Given the description of an element on the screen output the (x, y) to click on. 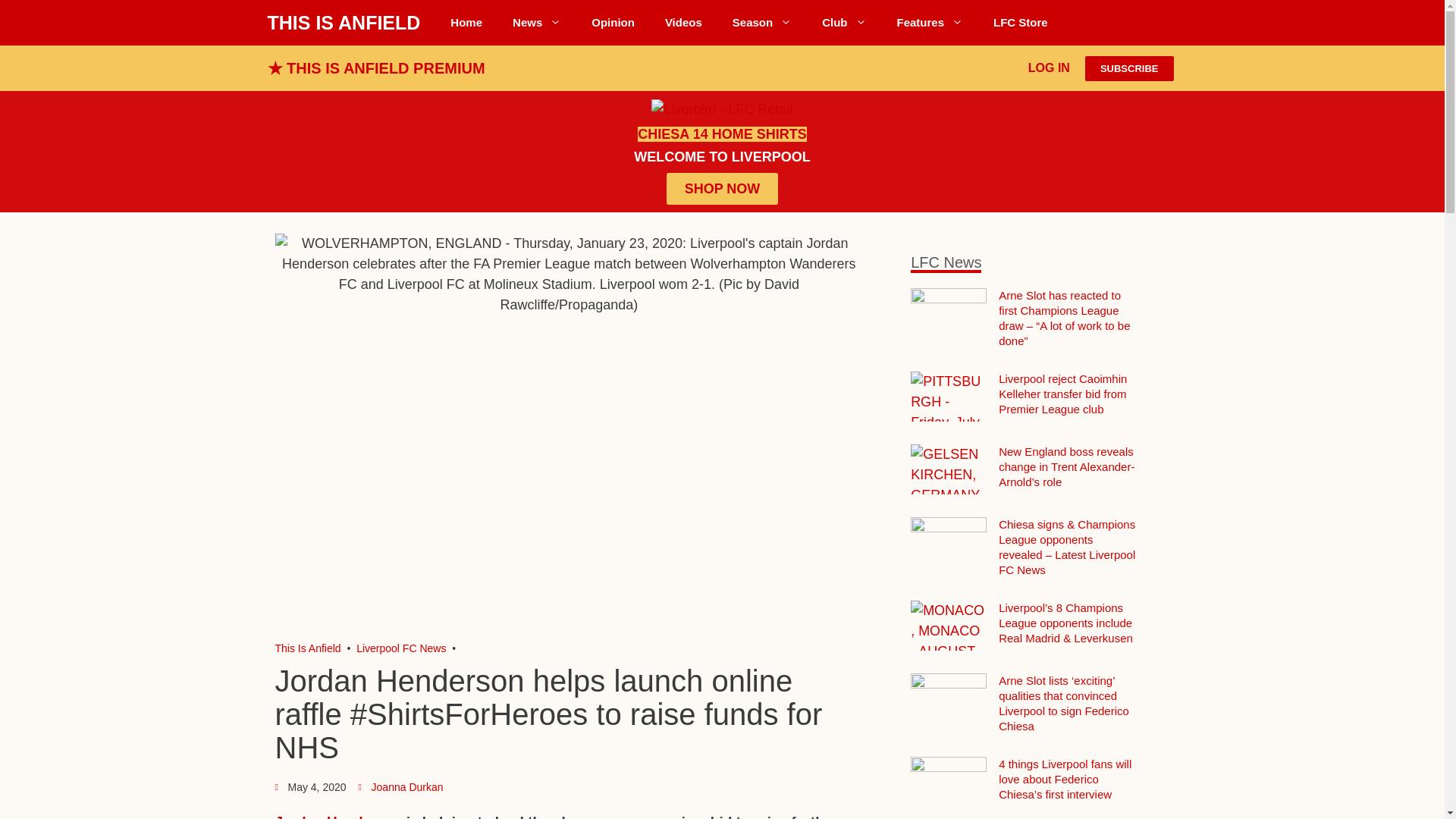
Club (843, 22)
Features (929, 22)
Season (761, 22)
Videos (683, 22)
Opinion (612, 22)
Liverpool FC Opinion (612, 22)
Liverpool FC News (536, 22)
THIS IS ANFIELD (343, 22)
Go to the Liverpool FC News category archives. (400, 648)
Liverpool FC (307, 648)
